Given the description of an element on the screen output the (x, y) to click on. 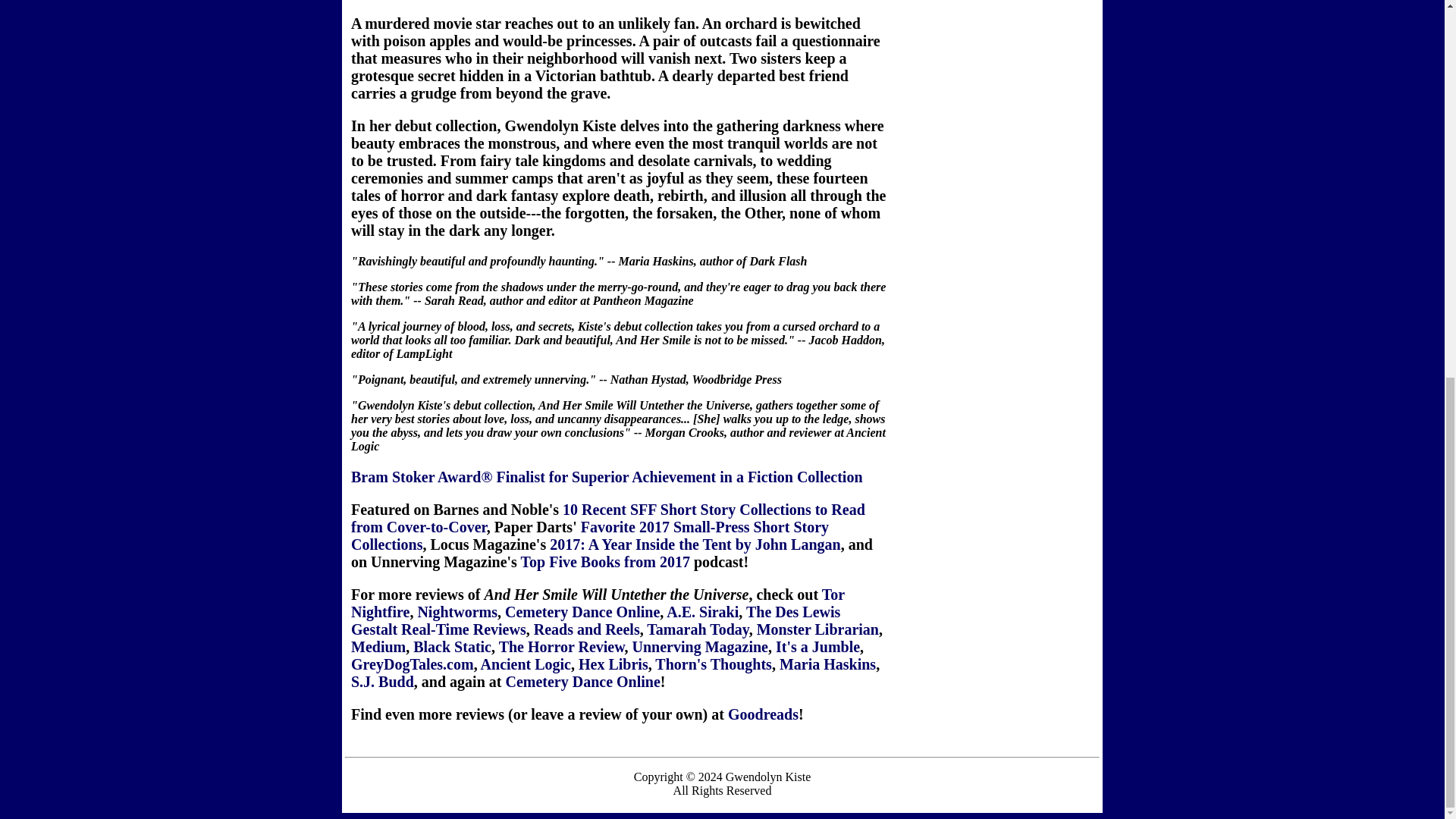
Cemetery Dance Online (582, 681)
The Des Lewis Gestalt Real-Time Reviews (595, 620)
Medium (378, 646)
Maria Haskins (827, 664)
A.E. Siraki (702, 611)
It's a Jumble (818, 646)
Black Static (452, 646)
Unnerving Magazine (699, 646)
Goodreads (762, 713)
Tor Nightfire (597, 602)
Thorn's Thoughts (713, 664)
Cemetery Dance Online (582, 611)
Tamarah Today (697, 629)
The Horror Review (561, 646)
